Given the description of an element on the screen output the (x, y) to click on. 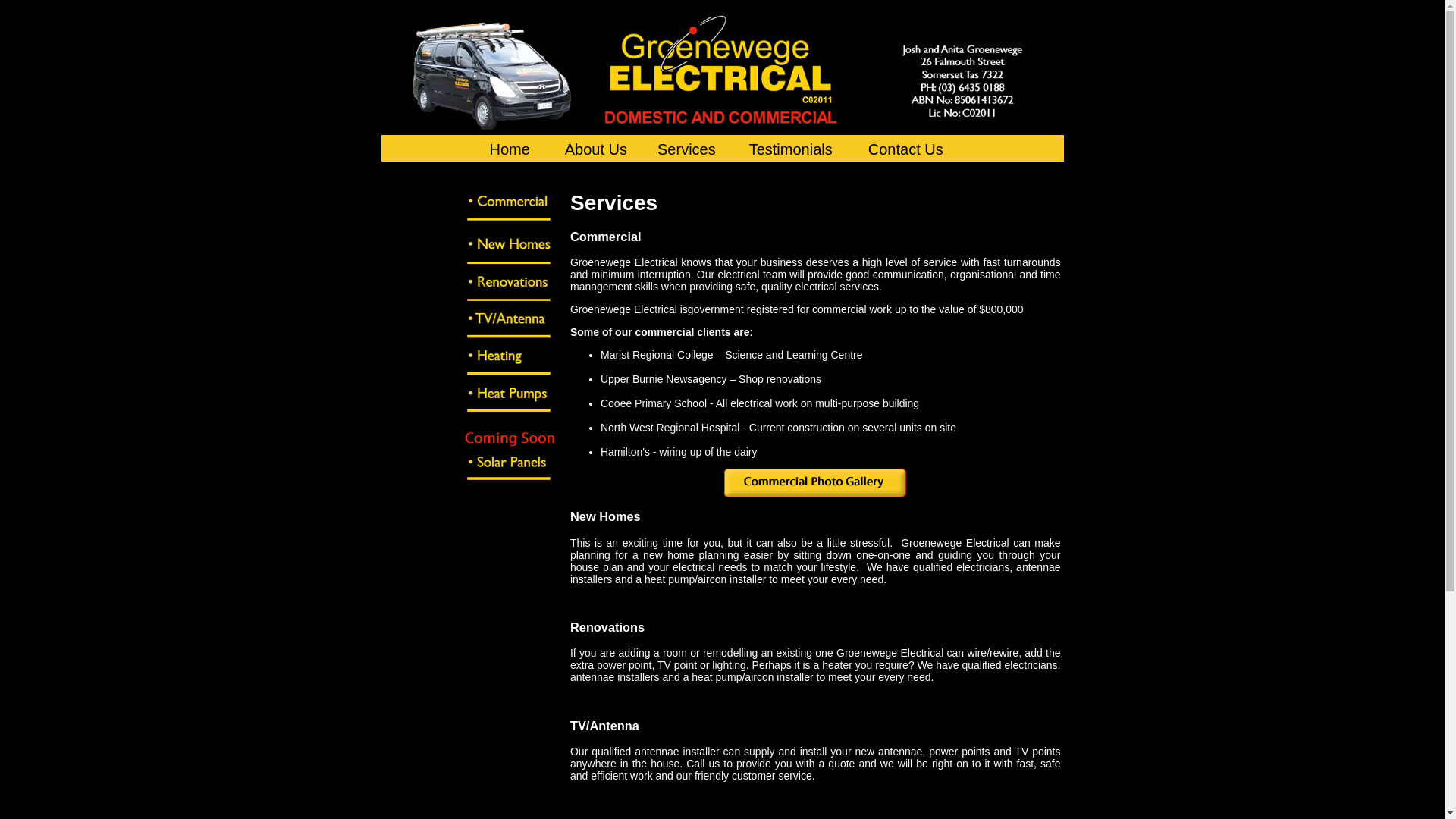
About Us Element type: text (595, 149)
Home Element type: text (509, 149)
Contact Us Element type: text (905, 149)
Testimonials Element type: text (790, 149)
Services Element type: text (686, 149)
